Given the description of an element on the screen output the (x, y) to click on. 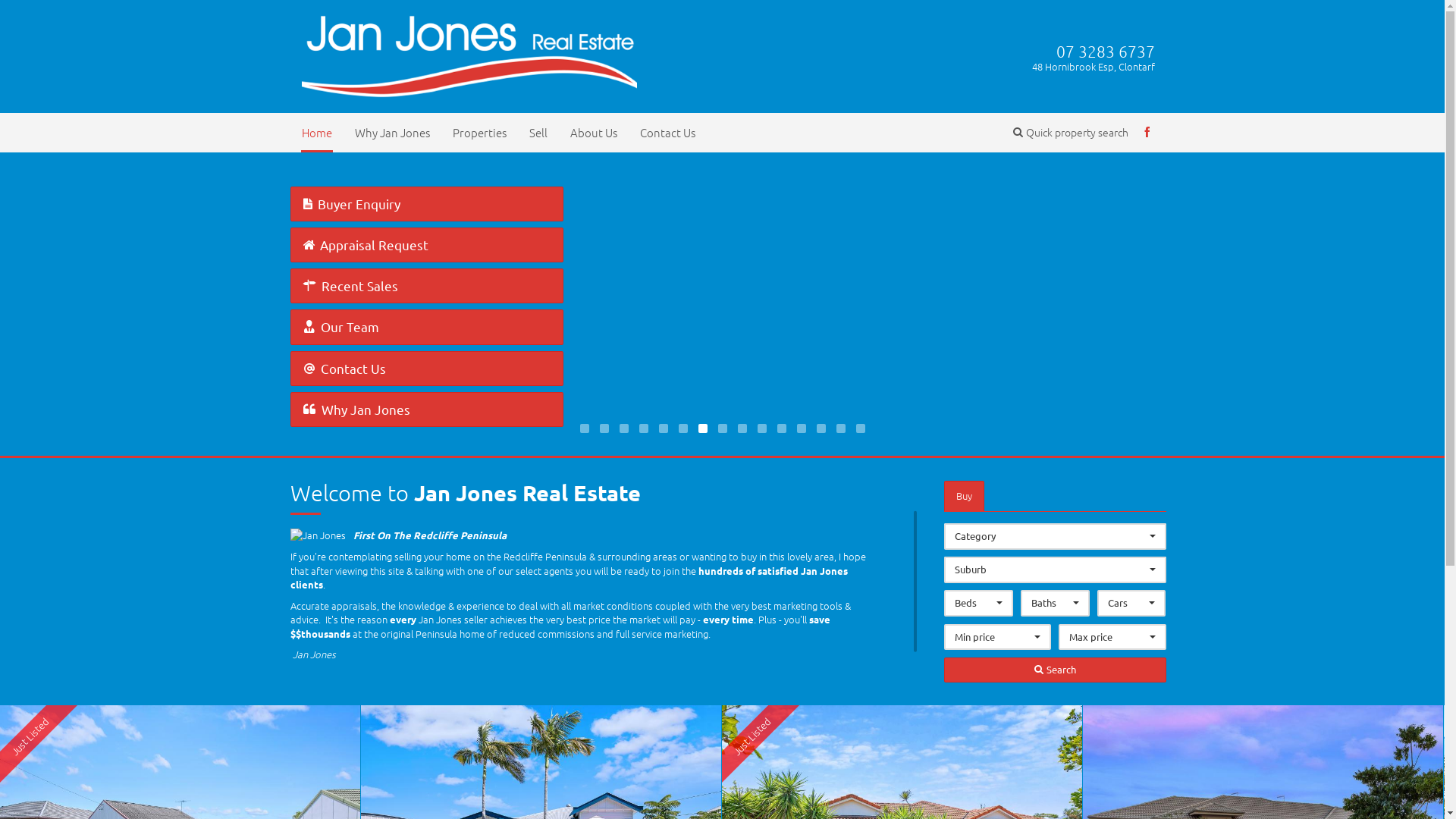
About Us Element type: text (592, 131)
Quick property search Element type: text (1070, 131)
Why Jan Jones Element type: text (391, 131)
Contact Us Element type: text (666, 131)
Buyer Enquiry Element type: text (425, 203)
Contact Us Element type: text (425, 368)
Min price
  Element type: text (997, 637)
Search Element type: text (1055, 669)
Suburb
  Element type: text (1055, 569)
Category
  Element type: text (1055, 536)
Cars
  Element type: text (1131, 602)
Recent Sales Element type: text (425, 285)
Properties Element type: text (479, 131)
Baths
  Element type: text (1054, 602)
Beds
  Element type: text (978, 602)
Max price
  Element type: text (1111, 637)
Why Jan Jones Element type: text (425, 409)
Buy Element type: text (964, 495)
Appraisal Request Element type: text (425, 244)
Jan Jones Real Estate Element type: hover (469, 54)
Home Element type: text (315, 131)
Our Team Element type: text (425, 326)
Sell Element type: text (537, 131)
